Given the description of an element on the screen output the (x, y) to click on. 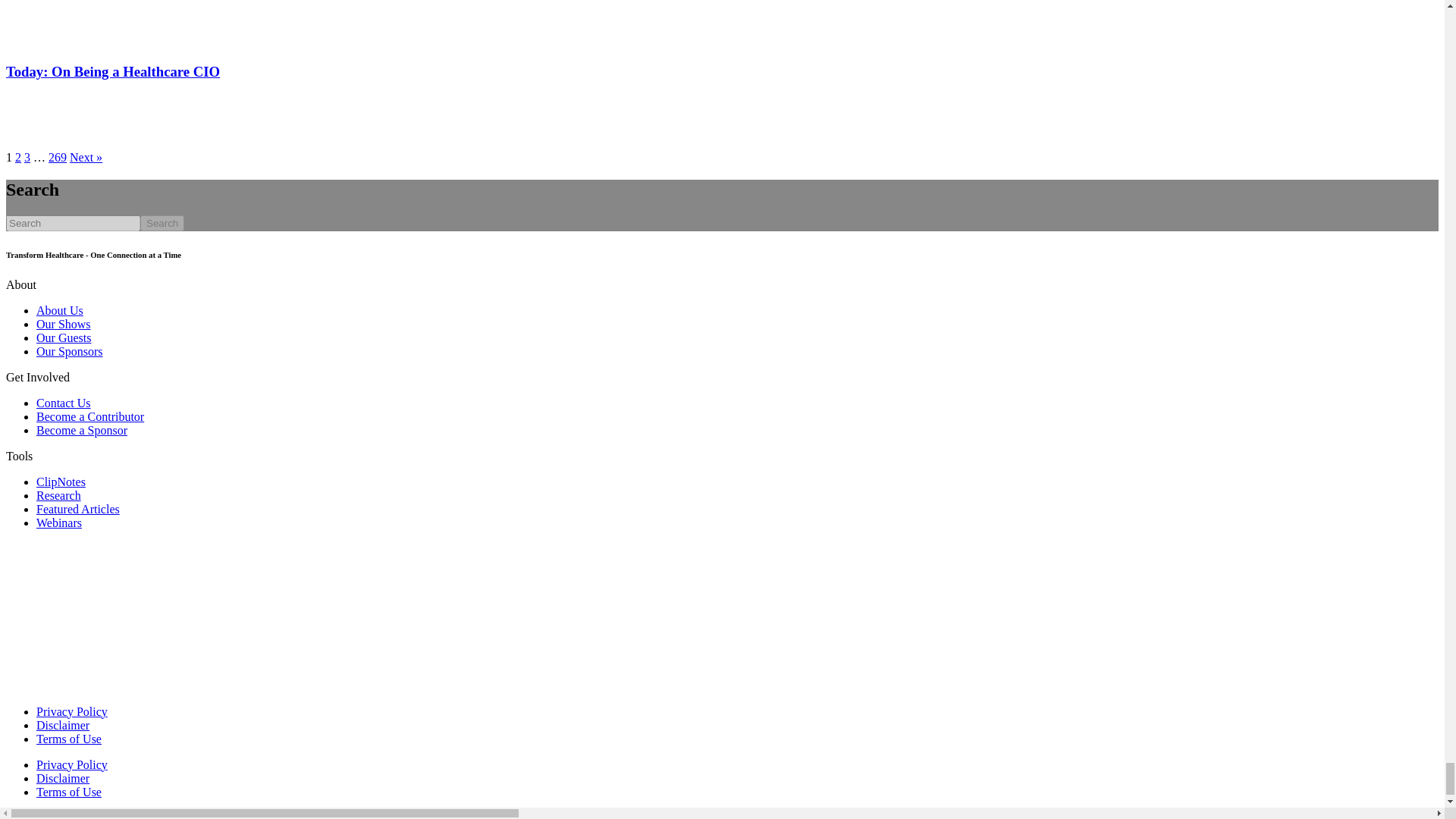
Search (161, 222)
2 (17, 156)
269 (57, 156)
About Us (59, 309)
Today: On Being a Healthcare CIO (112, 71)
3 (27, 156)
